Given the description of an element on the screen output the (x, y) to click on. 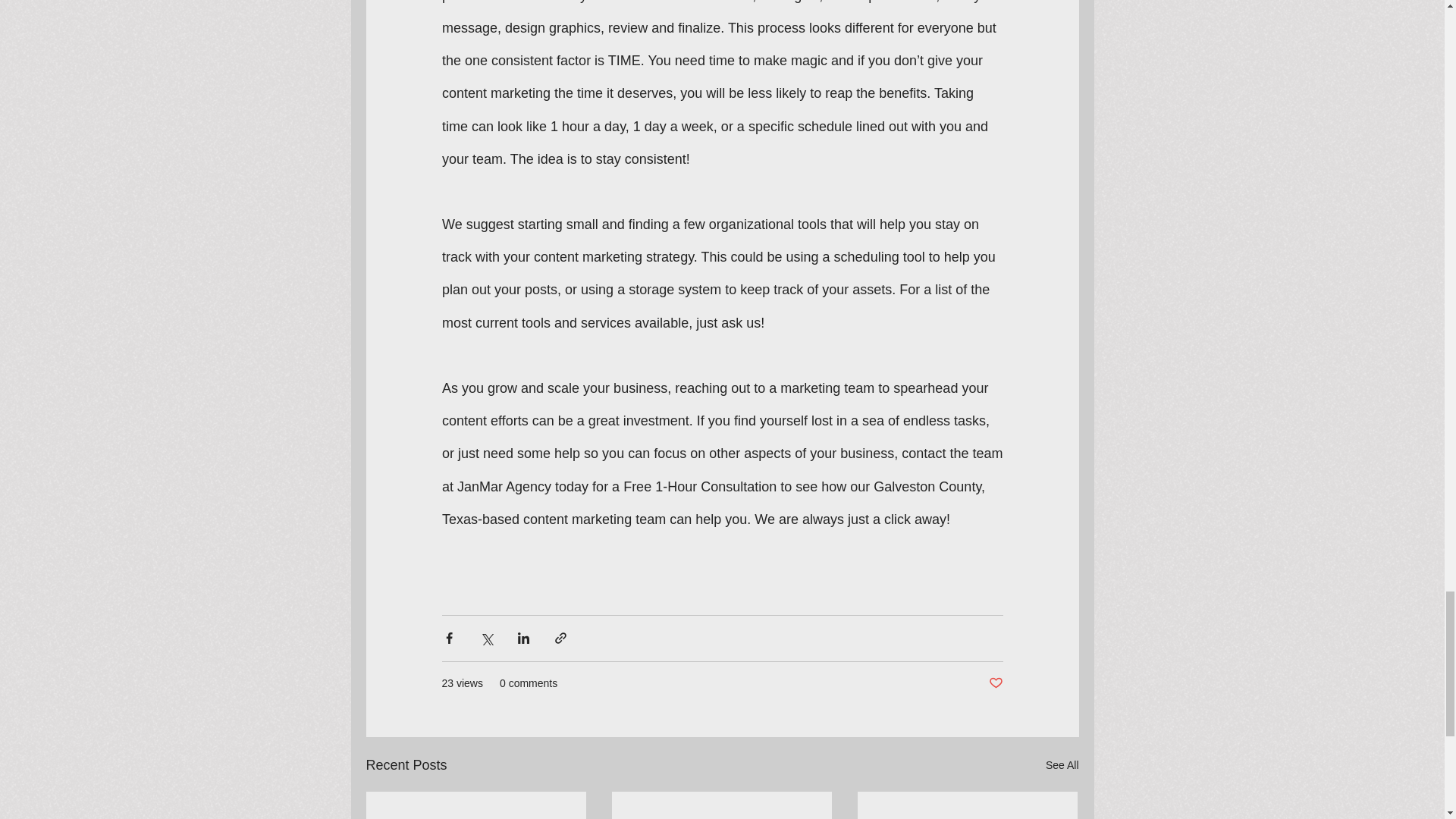
Post not marked as liked (995, 683)
See All (1061, 765)
